Given the description of an element on the screen output the (x, y) to click on. 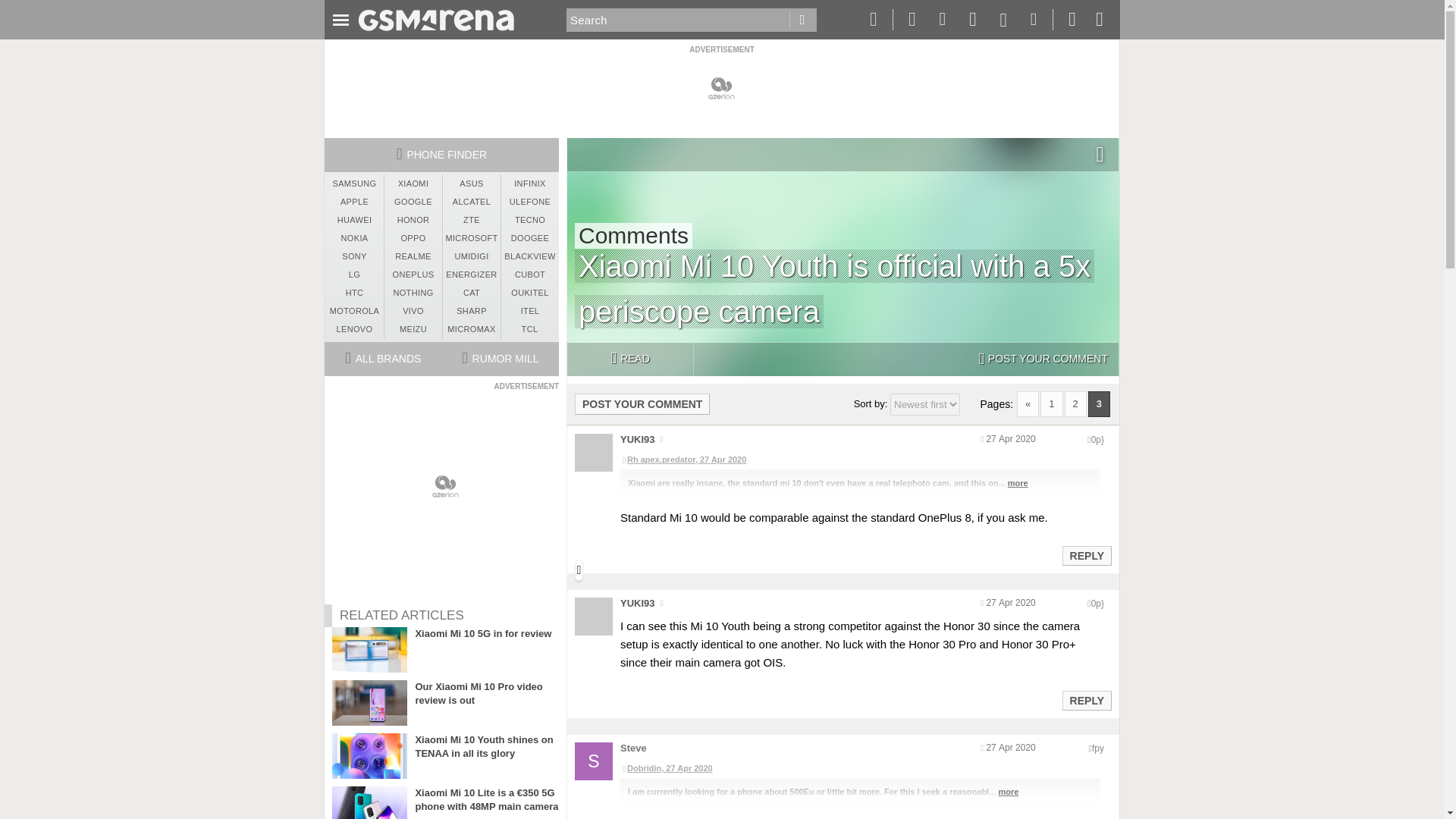
Rh apex.predator, 27 Apr 2020 (859, 459)
Sort comments by (924, 404)
Reply to this post (1086, 555)
POST YOUR COMMENT (1042, 359)
Go (802, 19)
Go (802, 19)
POST YOUR COMMENT (642, 403)
more (1017, 482)
READ (630, 359)
YUKI93 (637, 439)
